Given the description of an element on the screen output the (x, y) to click on. 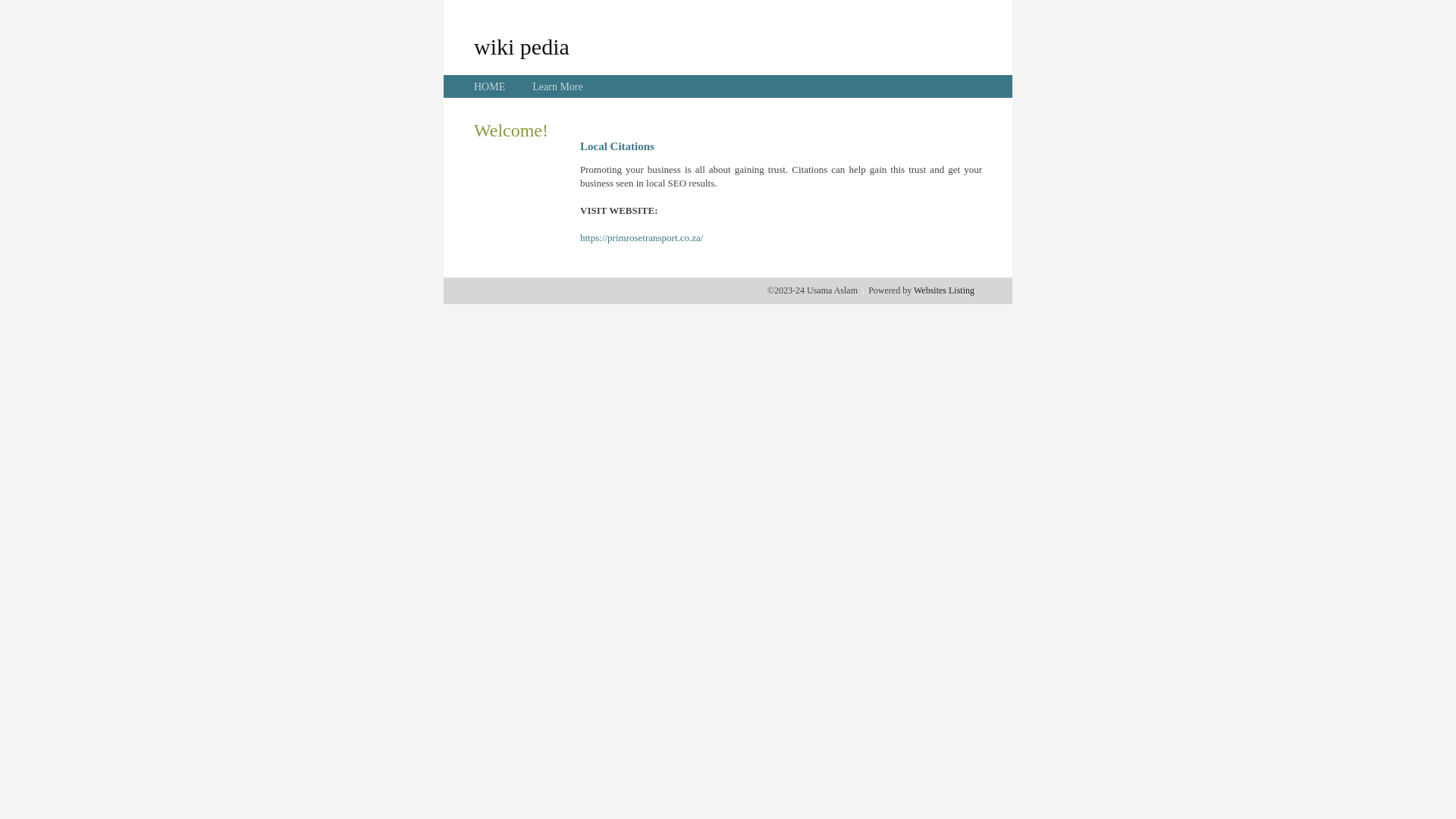
Learn More Element type: text (557, 86)
https://primrosetransport.co.za/ Element type: text (641, 237)
HOME Element type: text (489, 86)
Websites Listing Element type: text (943, 290)
wiki pedia Element type: text (521, 46)
